Given the description of an element on the screen output the (x, y) to click on. 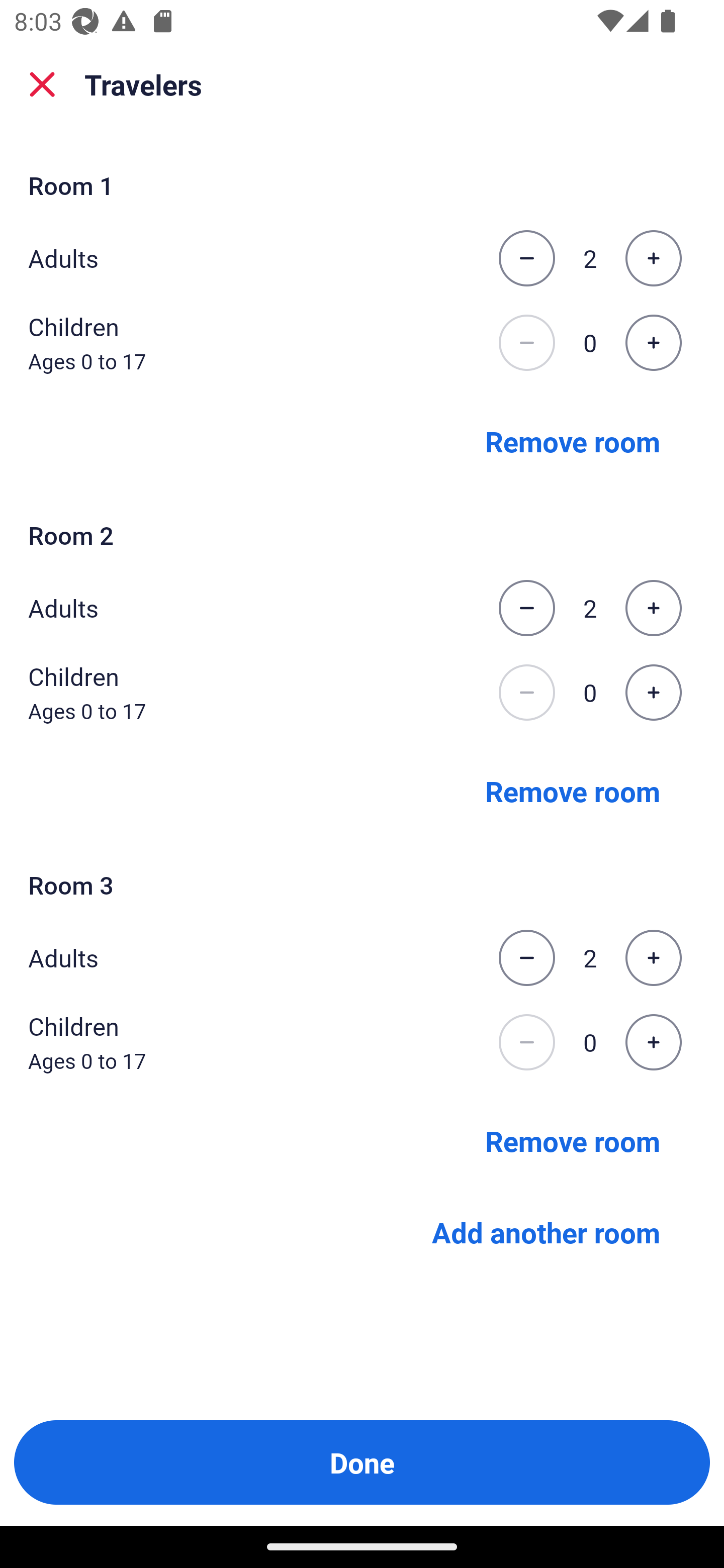
close (42, 84)
Decrease the number of adults (526, 258)
Increase the number of adults (653, 258)
Decrease the number of children (526, 343)
Increase the number of children (653, 343)
Remove room (572, 440)
Decrease the number of adults (526, 608)
Increase the number of adults (653, 608)
Decrease the number of children (526, 692)
Increase the number of children (653, 692)
Remove room (572, 790)
Decrease the number of adults (526, 957)
Increase the number of adults (653, 957)
Decrease the number of children (526, 1042)
Increase the number of children (653, 1042)
Remove room (572, 1140)
Add another room (545, 1232)
Done (361, 1462)
